Given the description of an element on the screen output the (x, y) to click on. 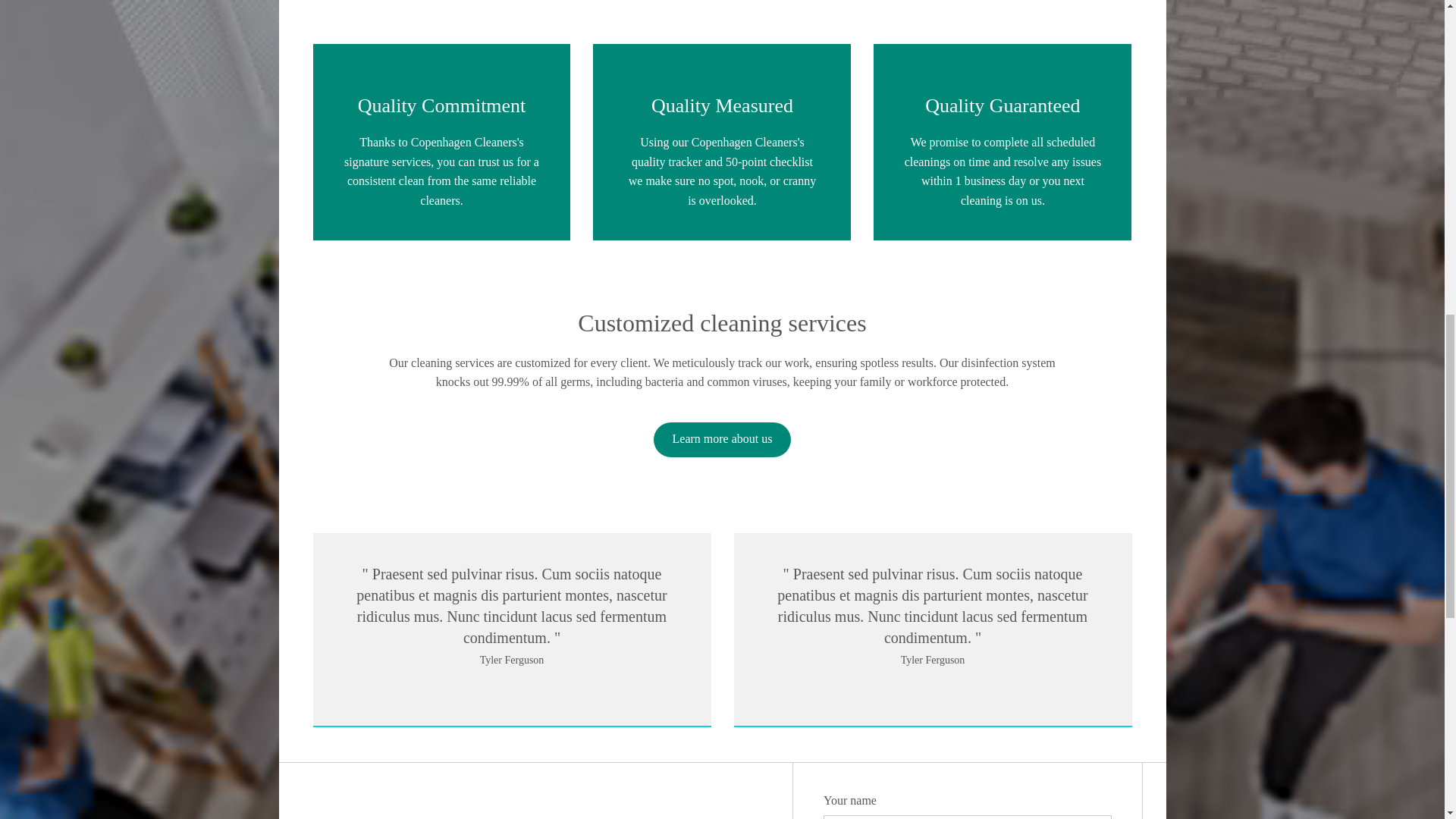
Learn more about us (722, 422)
